Given the description of an element on the screen output the (x, y) to click on. 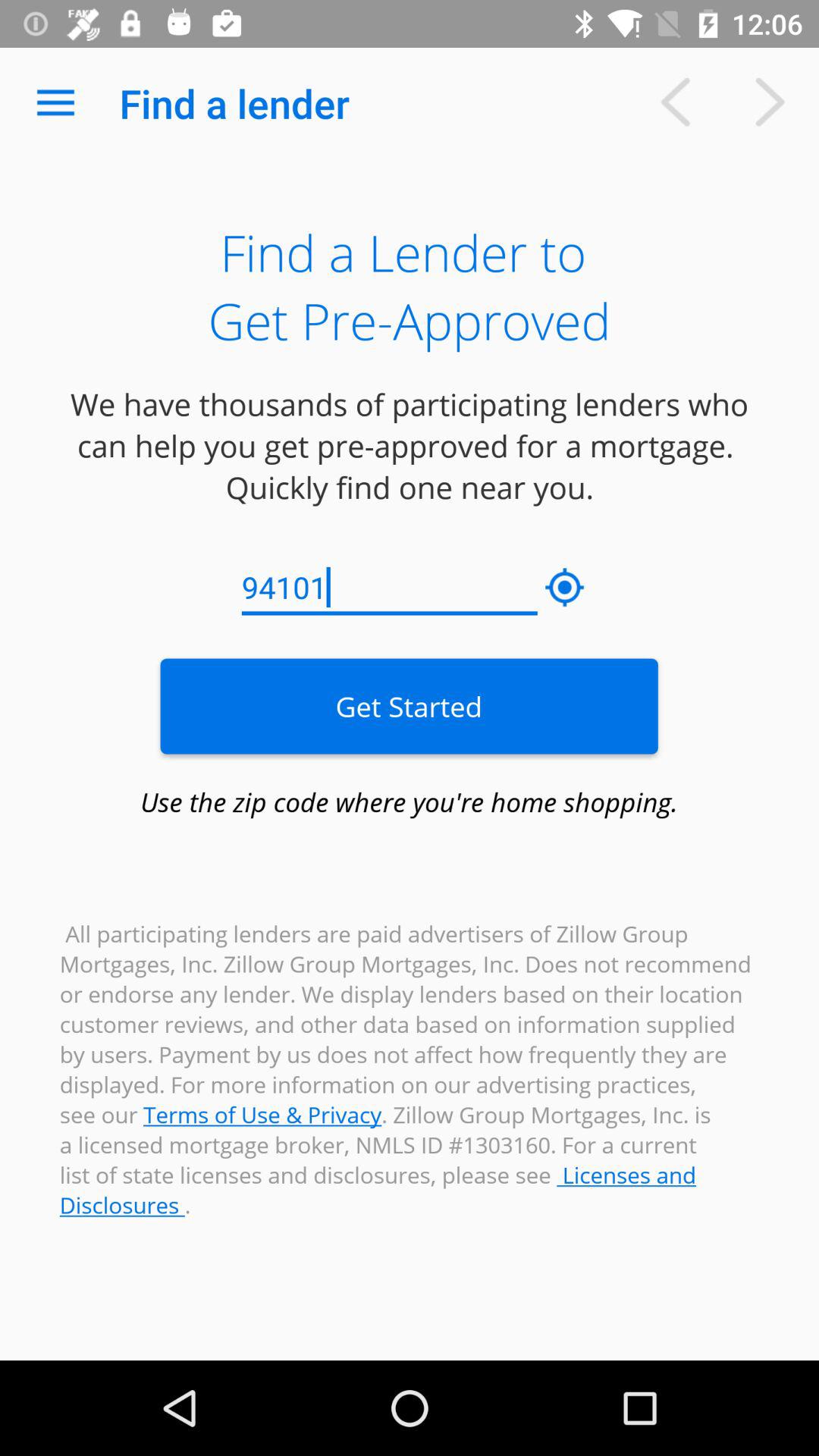
turn on icon above get started icon (389, 588)
